Given the description of an element on the screen output the (x, y) to click on. 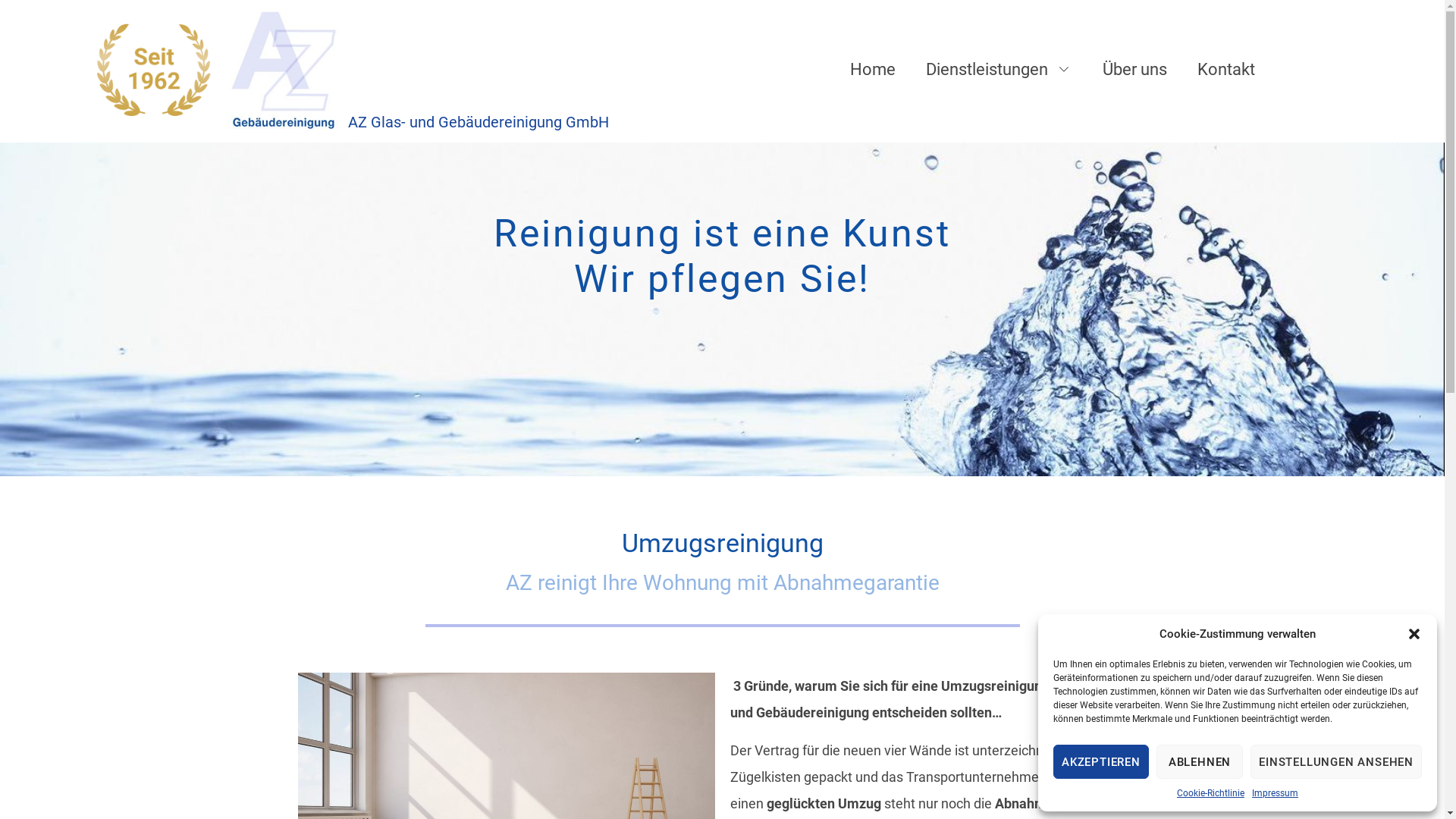
ABLEHNEN Element type: text (1199, 761)
EINSTELLUNGEN ANSEHEN Element type: text (1335, 761)
Home Element type: text (872, 69)
Dienstleistungen Element type: text (998, 69)
Impressum Element type: text (1275, 793)
Cookie-Richtlinie Element type: text (1210, 793)
AKZEPTIEREN Element type: text (1100, 761)
Kontakt Element type: text (1226, 69)
